Given the description of an element on the screen output the (x, y) to click on. 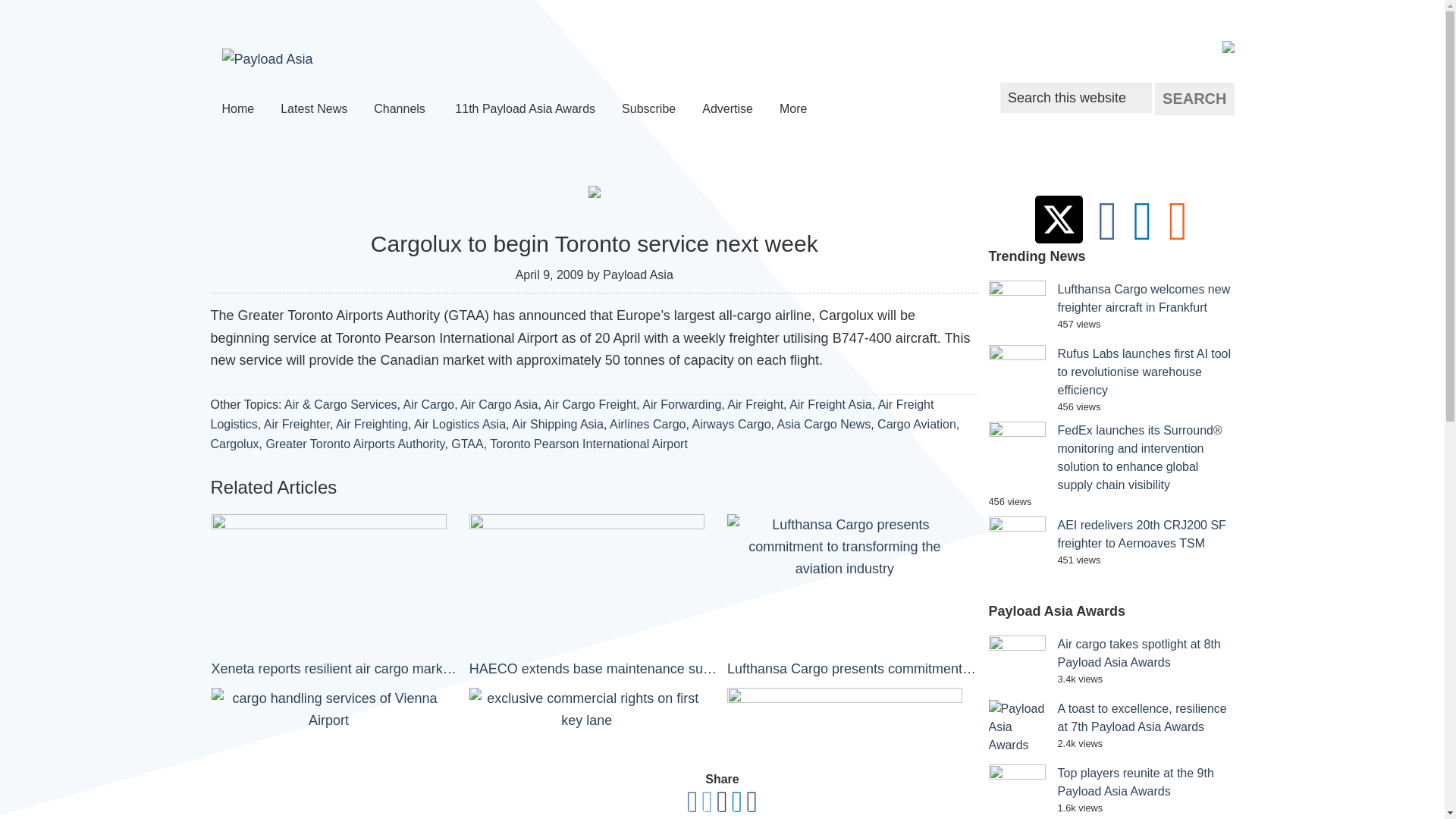
HAECO extends base maintenance support to Cargolux (593, 597)
Latest News (313, 109)
Payload Asia (267, 59)
Air Forwarding (681, 404)
11th Payload Asia Awards (525, 109)
More  (795, 109)
Search (1193, 97)
Air Cargo (428, 404)
Search (1193, 97)
